Given the description of an element on the screen output the (x, y) to click on. 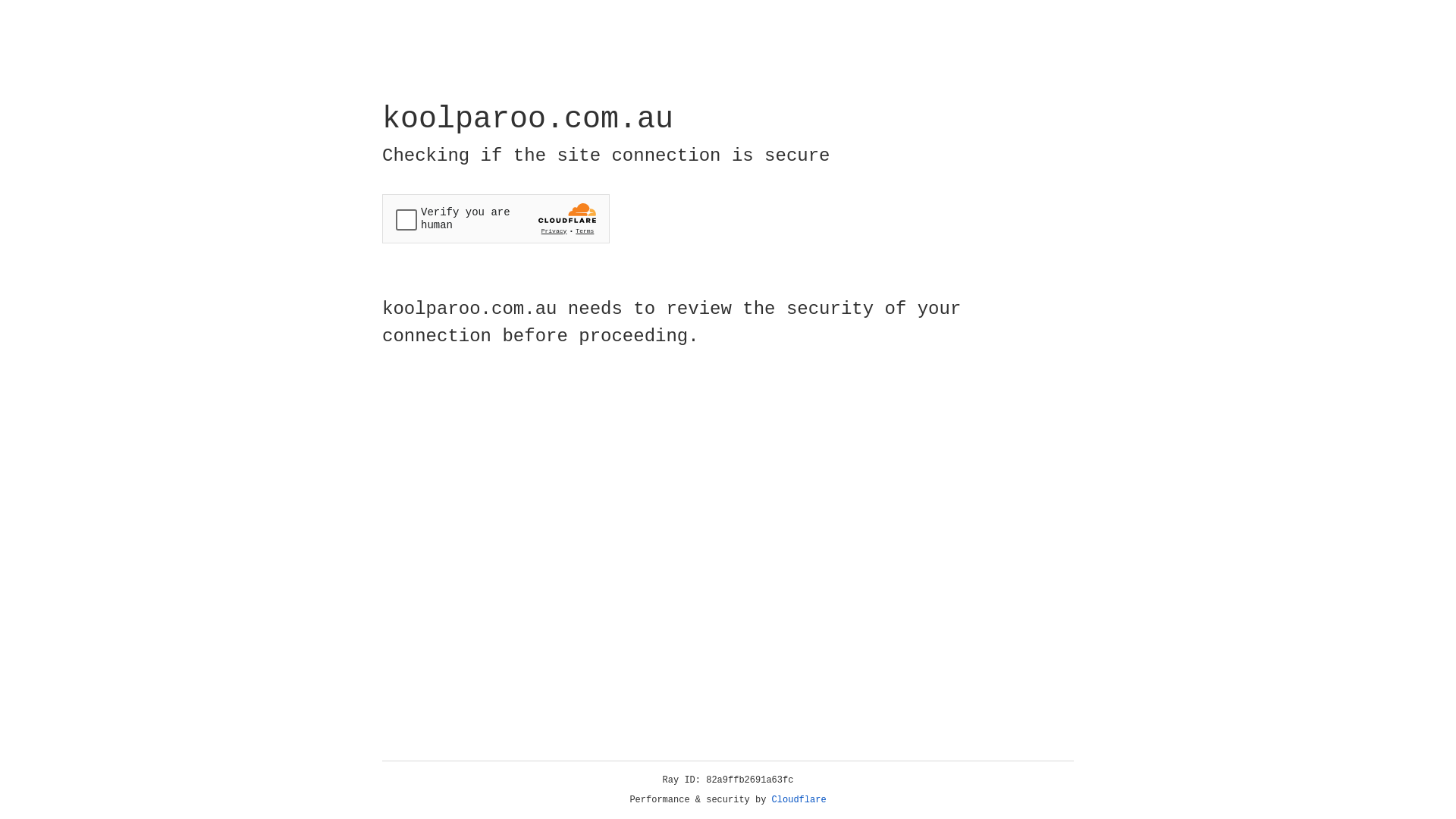
Widget containing a Cloudflare security challenge Element type: hover (495, 218)
Cloudflare Element type: text (798, 799)
